Given the description of an element on the screen output the (x, y) to click on. 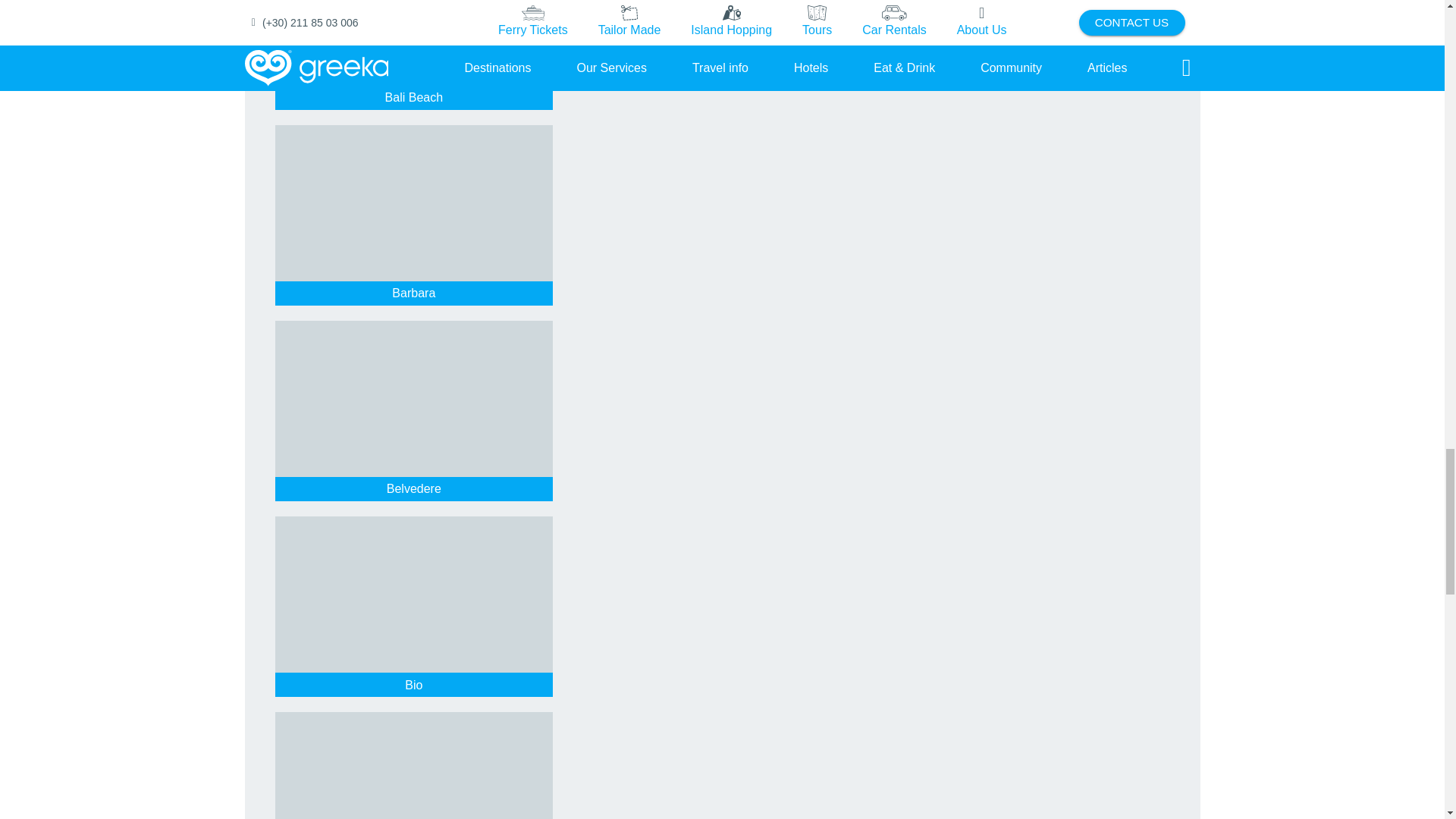
Bali Beach (414, 97)
Bali Beach (414, 97)
Barbara (414, 293)
Belvedere (414, 488)
Bio (414, 685)
Bio (414, 685)
Belvedere (414, 488)
Barbara (414, 293)
